Given the description of an element on the screen output the (x, y) to click on. 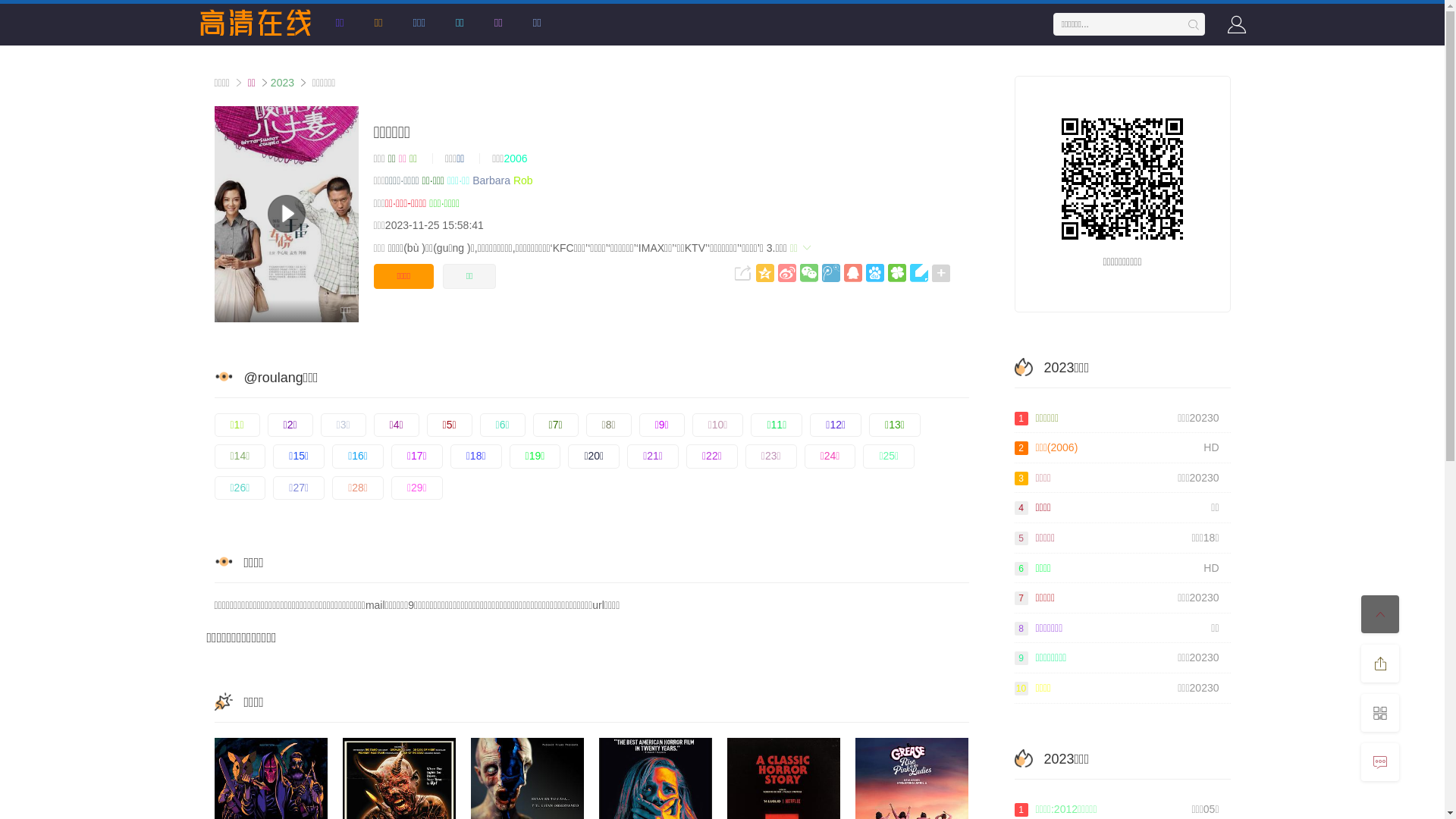
2023 Element type: text (282, 82)
Rob Element type: text (523, 180)
2006 Element type: text (515, 158)
Barbara Element type: text (491, 180)
